Given the description of an element on the screen output the (x, y) to click on. 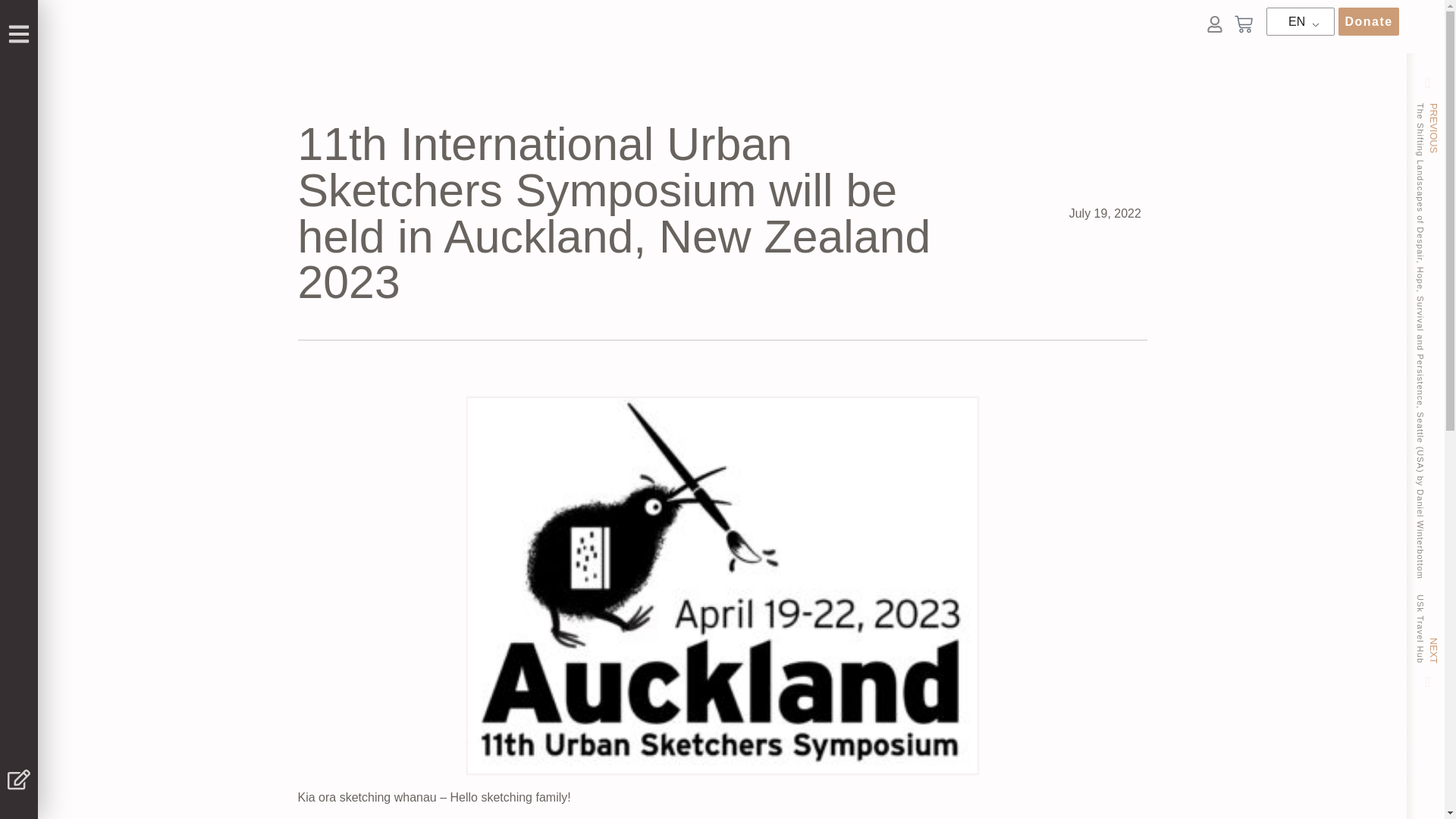
Donate (1368, 21)
EN (1297, 21)
English (1297, 21)
